Given the description of an element on the screen output the (x, y) to click on. 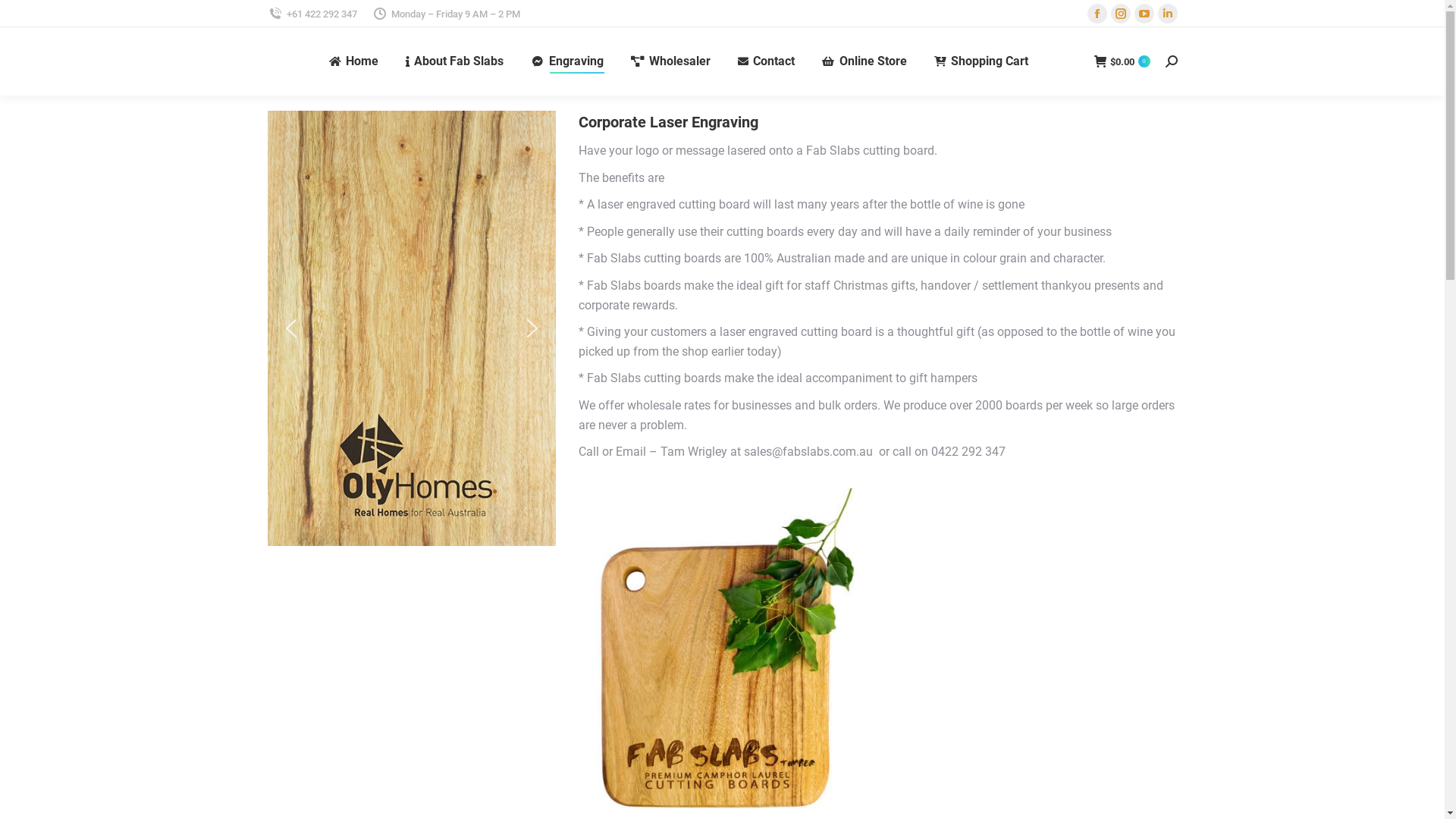
Engraving Element type: text (566, 60)
YouTube page opens in new window Element type: text (1144, 13)
$0.00
0 Element type: text (1121, 60)
Shopping Cart Element type: text (981, 60)
Contact Element type: text (765, 60)
About Fab Slabs Element type: text (454, 60)
Linkedin page opens in new window Element type: text (1166, 13)
Home Element type: text (353, 60)
Go! Element type: text (23, 16)
Online Store Element type: text (864, 60)
Facebook page opens in new window Element type: text (1097, 13)
Wholesaler Element type: text (670, 60)
Instagram page opens in new window Element type: text (1119, 13)
